Given the description of an element on the screen output the (x, y) to click on. 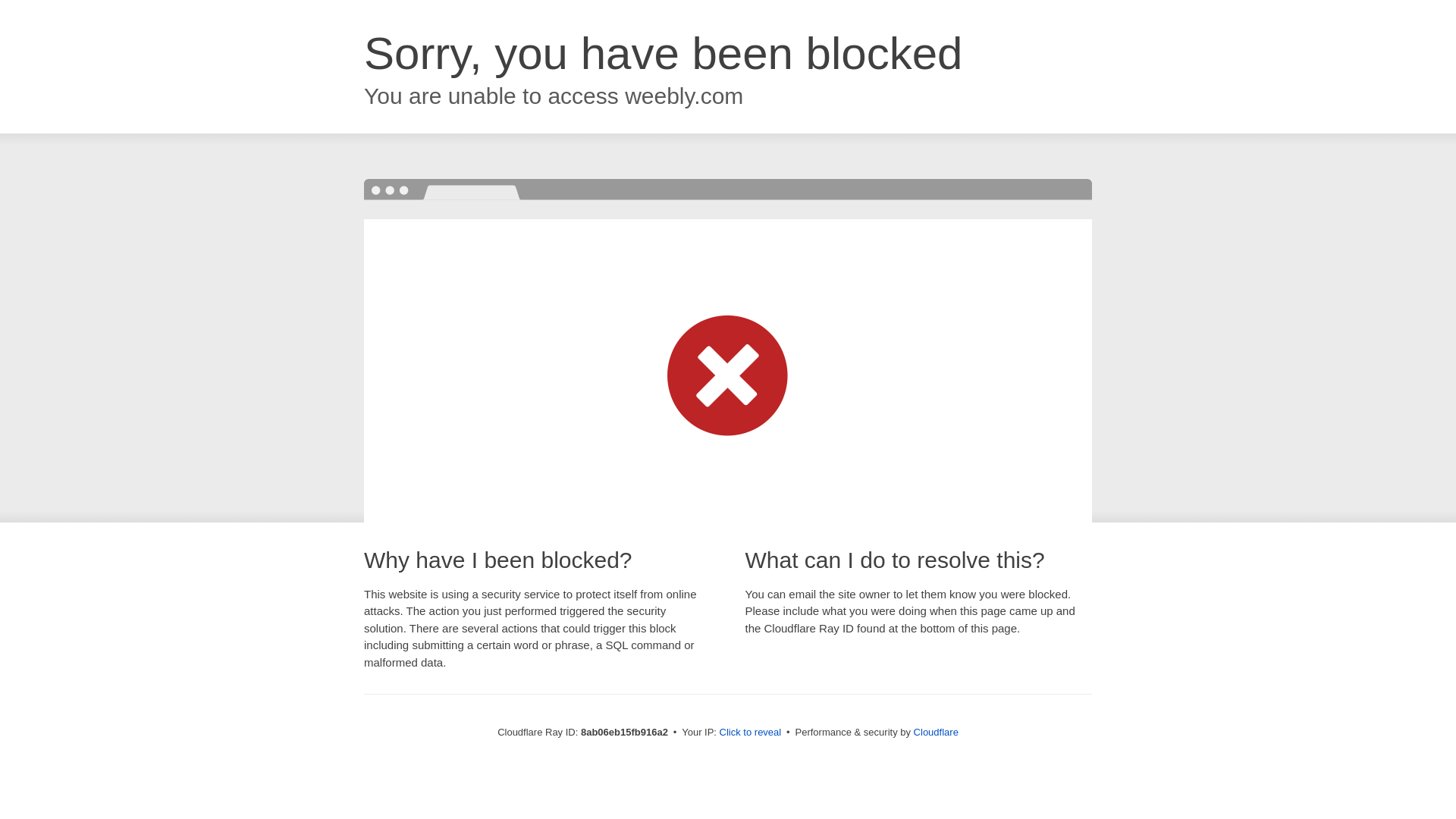
Click to reveal (750, 732)
Cloudflare (936, 731)
